Given the description of an element on the screen output the (x, y) to click on. 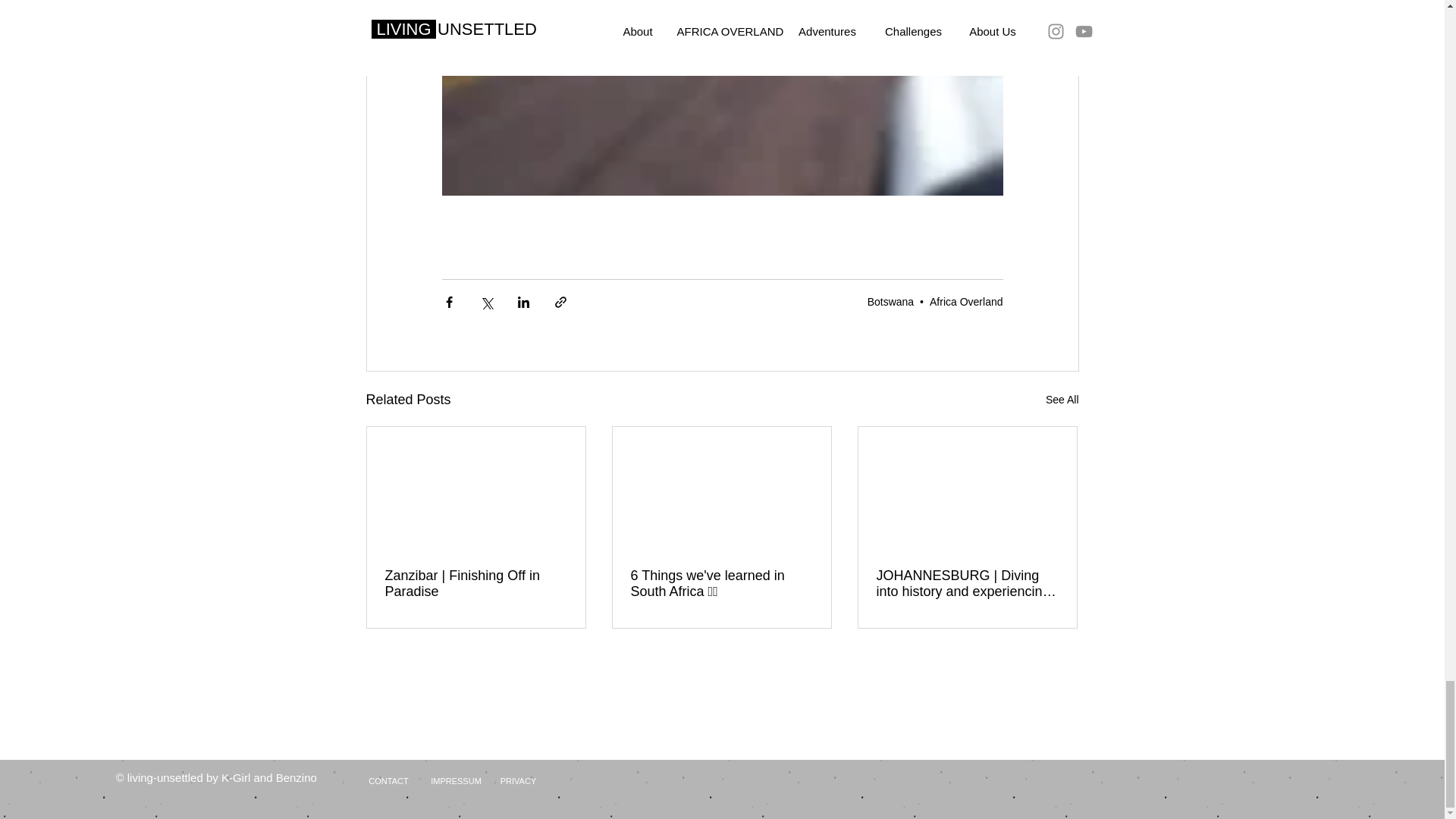
Botswana (890, 301)
Africa Overland (966, 301)
See All (1061, 400)
